Given the description of an element on the screen output the (x, y) to click on. 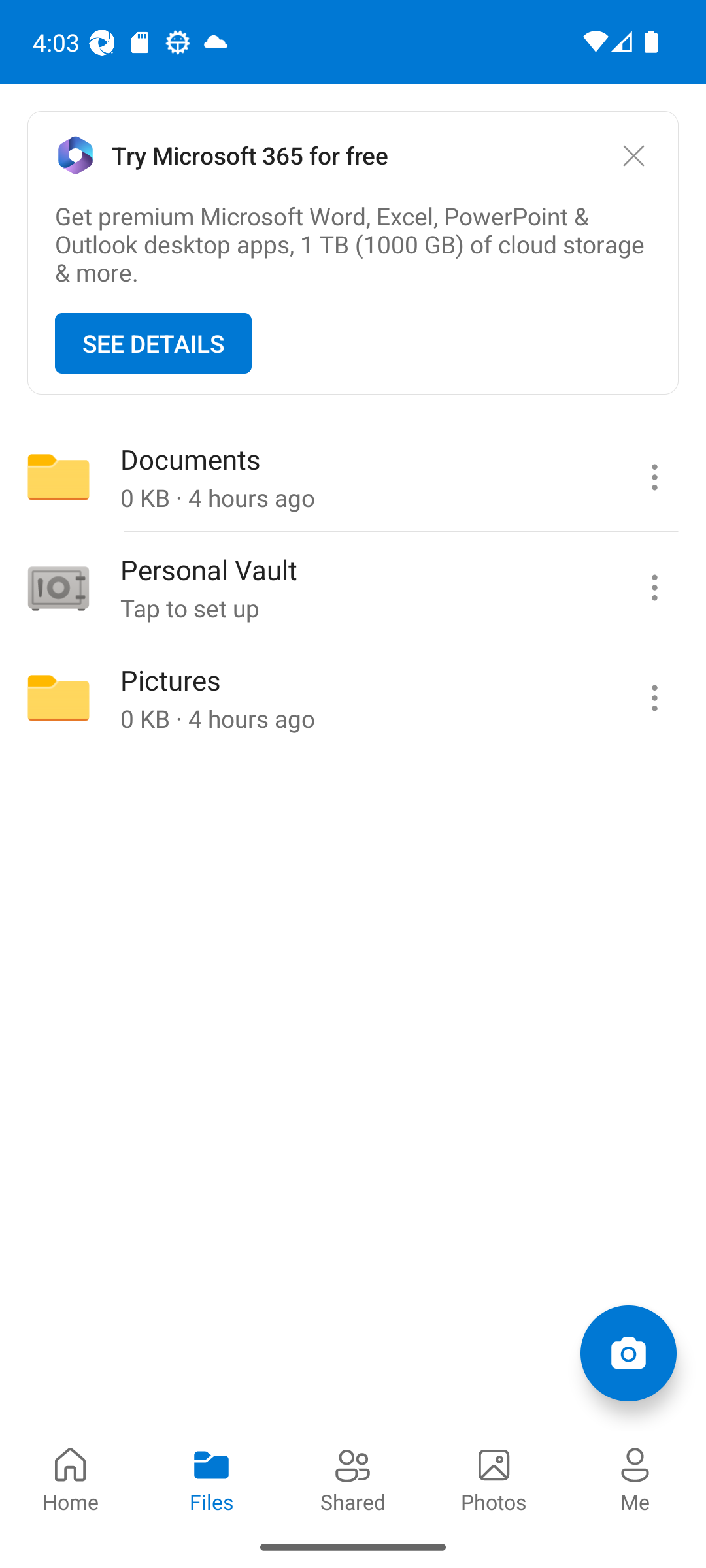
Close (633, 155)
SEE DETAILS (153, 343)
Documents commands (654, 477)
Personal Vault commands (654, 587)
Pictures commands (654, 697)
Add items Scan (628, 1352)
Home pivot Home (70, 1478)
Shared pivot Shared (352, 1478)
Photos pivot Photos (493, 1478)
Me pivot Me (635, 1478)
